Given the description of an element on the screen output the (x, y) to click on. 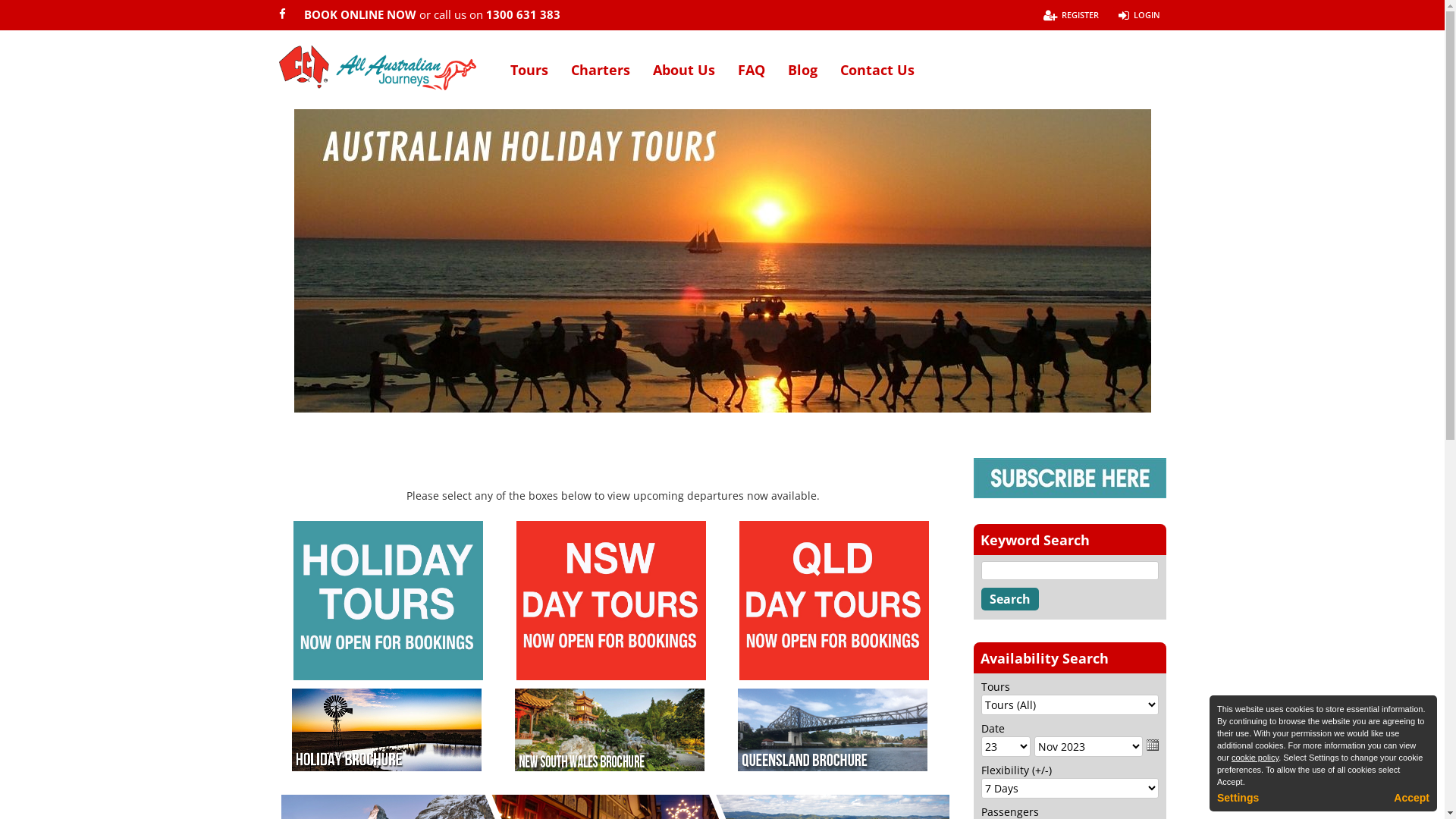
Accept Element type: text (1411, 797)
Tours Element type: text (528, 79)
LOGIN Element type: text (1138, 15)
1300 631 383 Element type: text (522, 13)
Blog Element type: text (801, 79)
REGISTER Element type: text (1070, 15)
Contact Us Element type: text (877, 79)
Search Element type: text (1009, 598)
FAQ Element type: text (750, 79)
Settings Element type: text (1237, 797)
cookie policy Element type: text (1254, 757)
About Us Element type: text (682, 79)
Cross Country Tours | Tel: 07 3869 7444 Element type: hover (377, 67)
Charters Element type: text (599, 79)
